Given the description of an element on the screen output the (x, y) to click on. 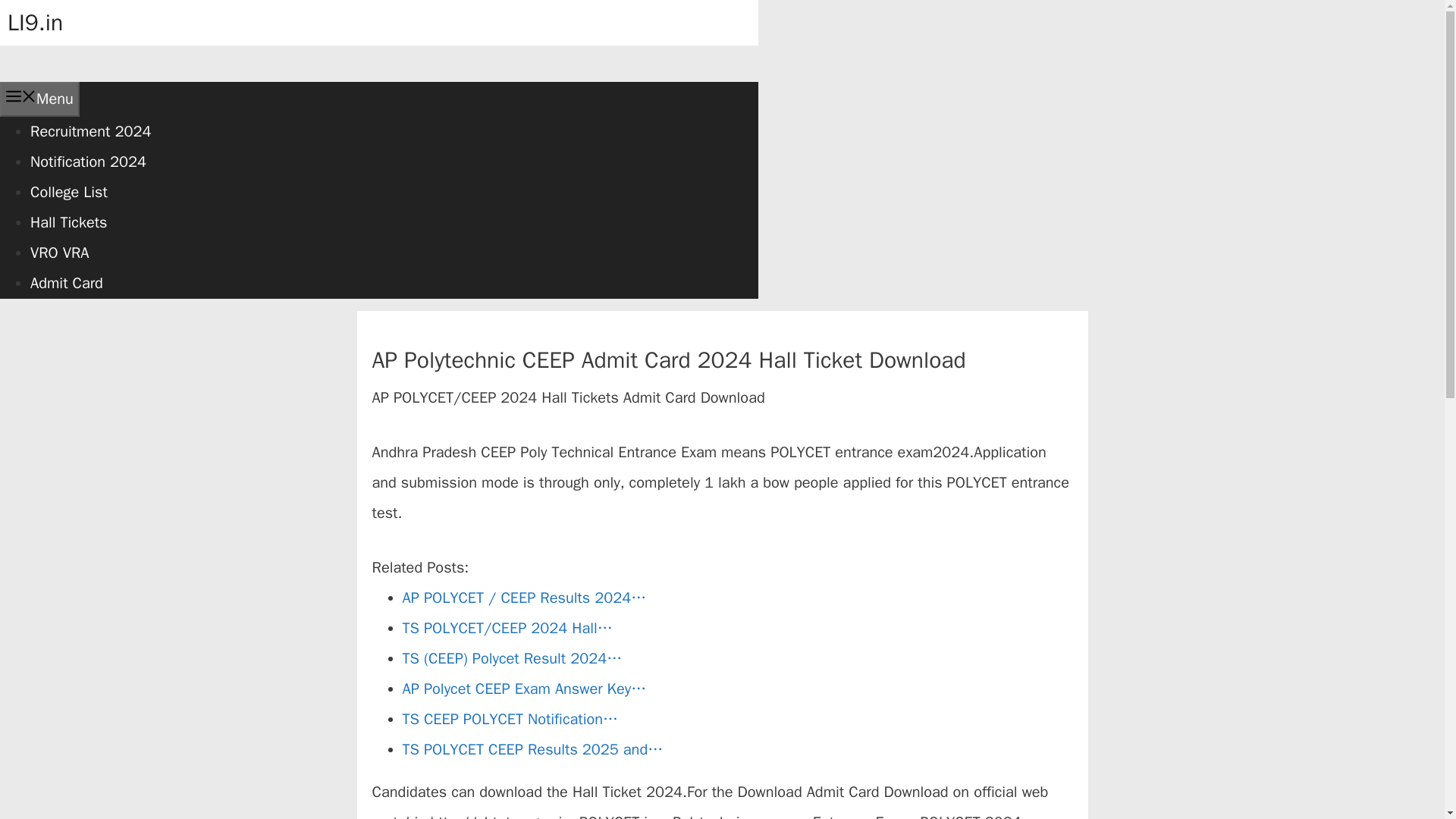
Recruitment 2024 (90, 131)
College List (68, 191)
Menu (40, 99)
Hall Tickets (68, 221)
Admit Card (66, 282)
VRO VRA (59, 252)
Notification 2024 (88, 161)
LI9.in (34, 22)
